Given the description of an element on the screen output the (x, y) to click on. 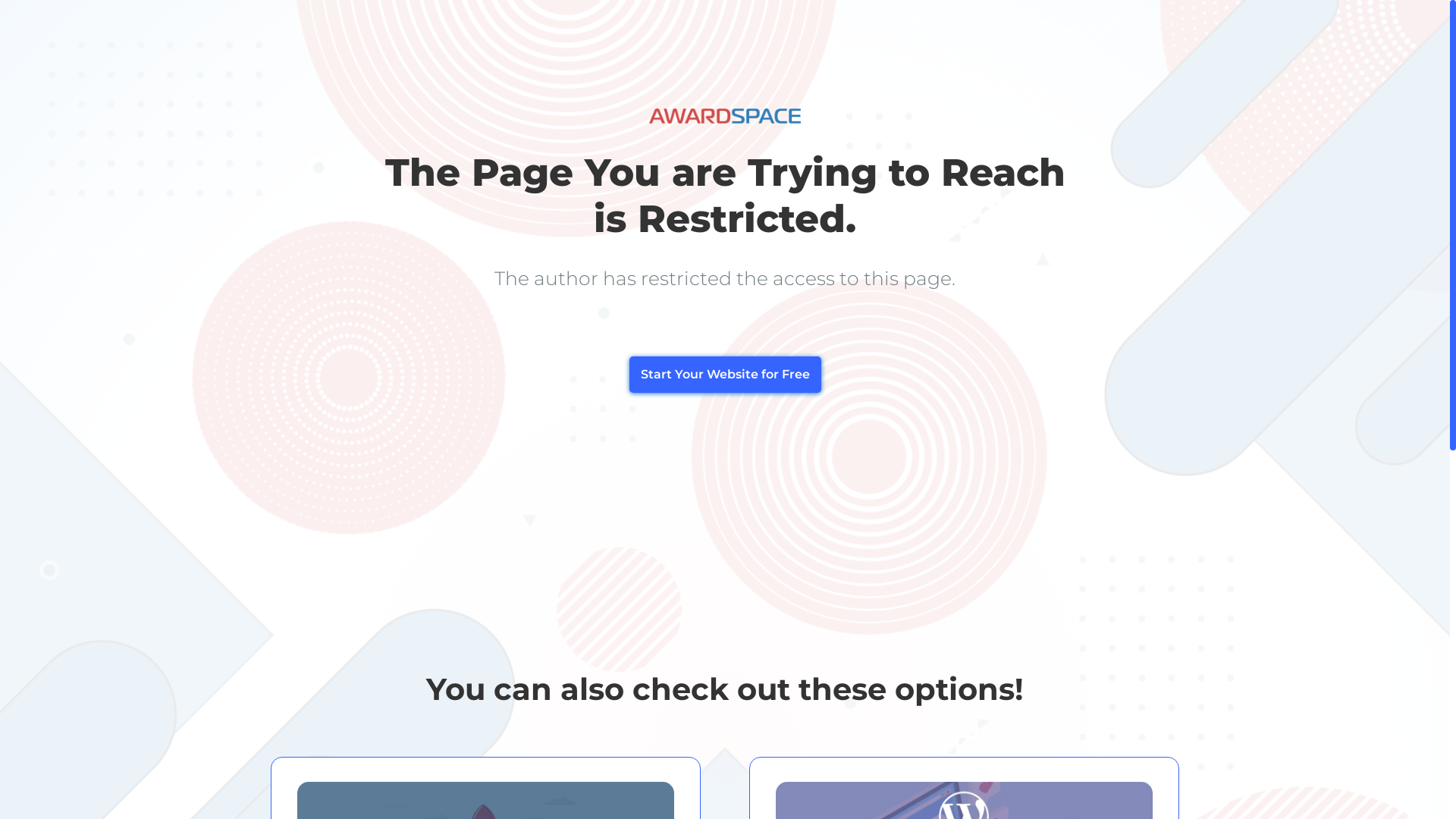
Start Your Website for Free Element type: text (725, 374)
